Given the description of an element on the screen output the (x, y) to click on. 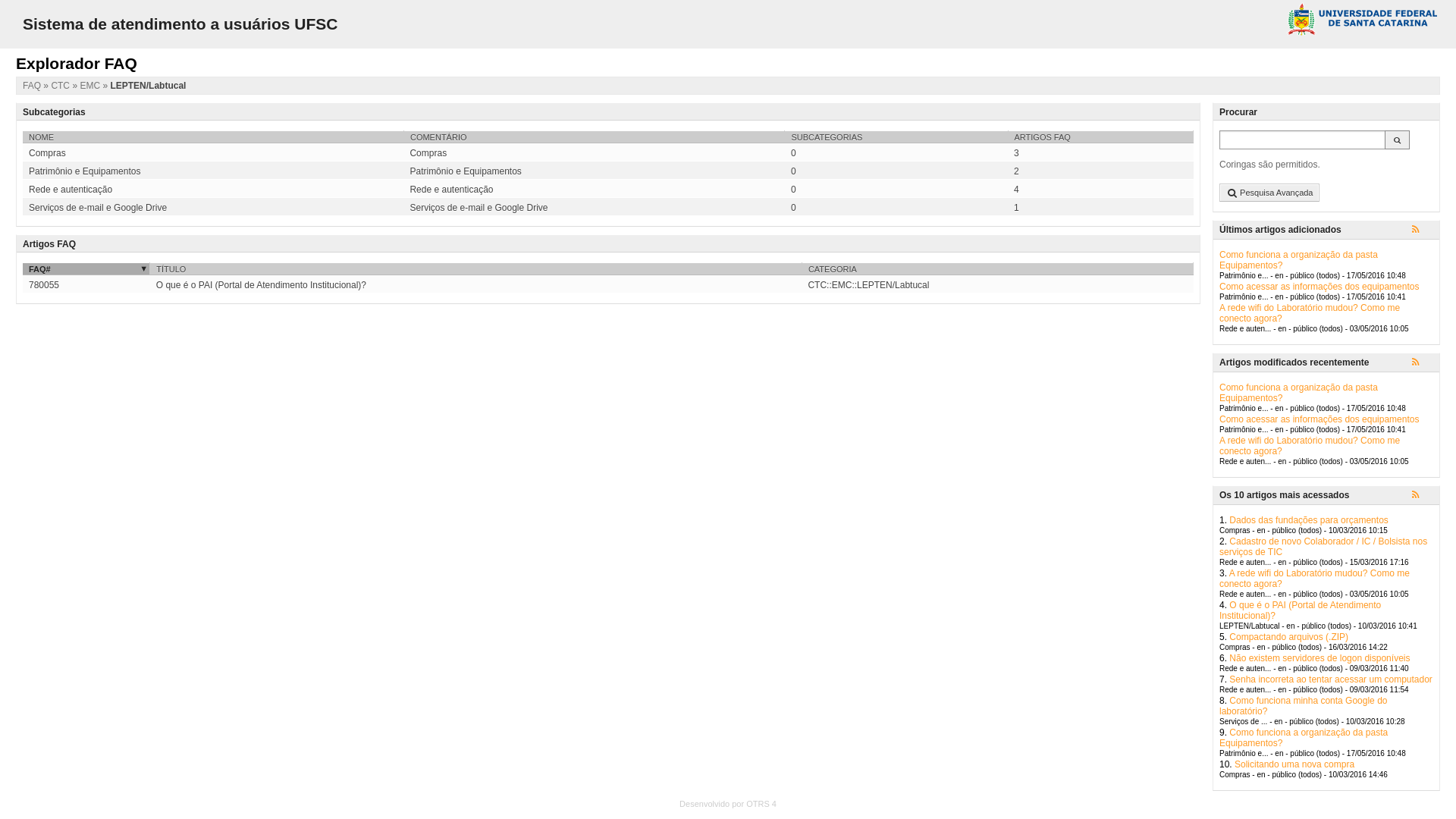
Senha incorreta ao tentar acessar um computador Element type: text (1330, 679)
Artigos FAQ (alterados recentemente) Element type: hover (1422, 363)
EMC Element type: text (90, 85)
Desenvolvido por OTRS 4 Element type: text (727, 803)
NOME Element type: text (212, 136)
CTC Element type: text (61, 85)
CATEGORIA Element type: text (997, 268)
ARTIGOS FAQ Element type: text (1100, 136)
SUBCATEGORIAS Element type: text (895, 136)
Procurar Element type: hover (1302, 139)
Compras Element type: text (212, 152)
LEPTEN/Labtucal Element type: text (147, 85)
780055 Element type: text (43, 284)
FAQ Element type: text (32, 85)
Artigos FAQ (criado novo) Element type: hover (1422, 230)
Solicitando uma nova compra Element type: text (1294, 764)
FAQ# Element type: text (85, 268)
Compactando arquivos (.ZIP) Element type: text (1288, 636)
Procurar Element type: text (1396, 139)
Artigos FAQ (Top 10) Element type: hover (1422, 495)
